Given the description of an element on the screen output the (x, y) to click on. 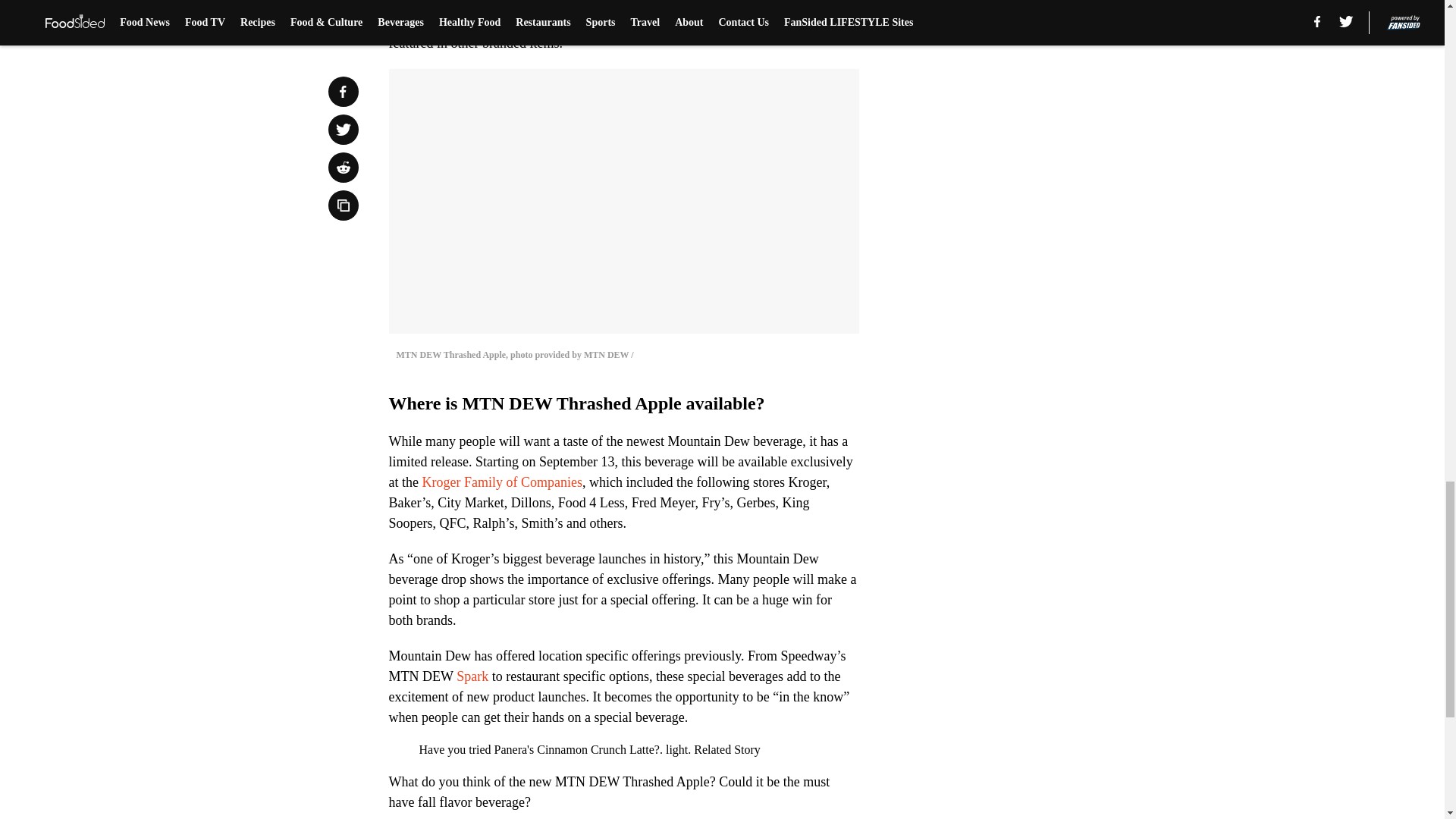
Kroger Family of Companies (501, 482)
Spark (472, 676)
